Given the description of an element on the screen output the (x, y) to click on. 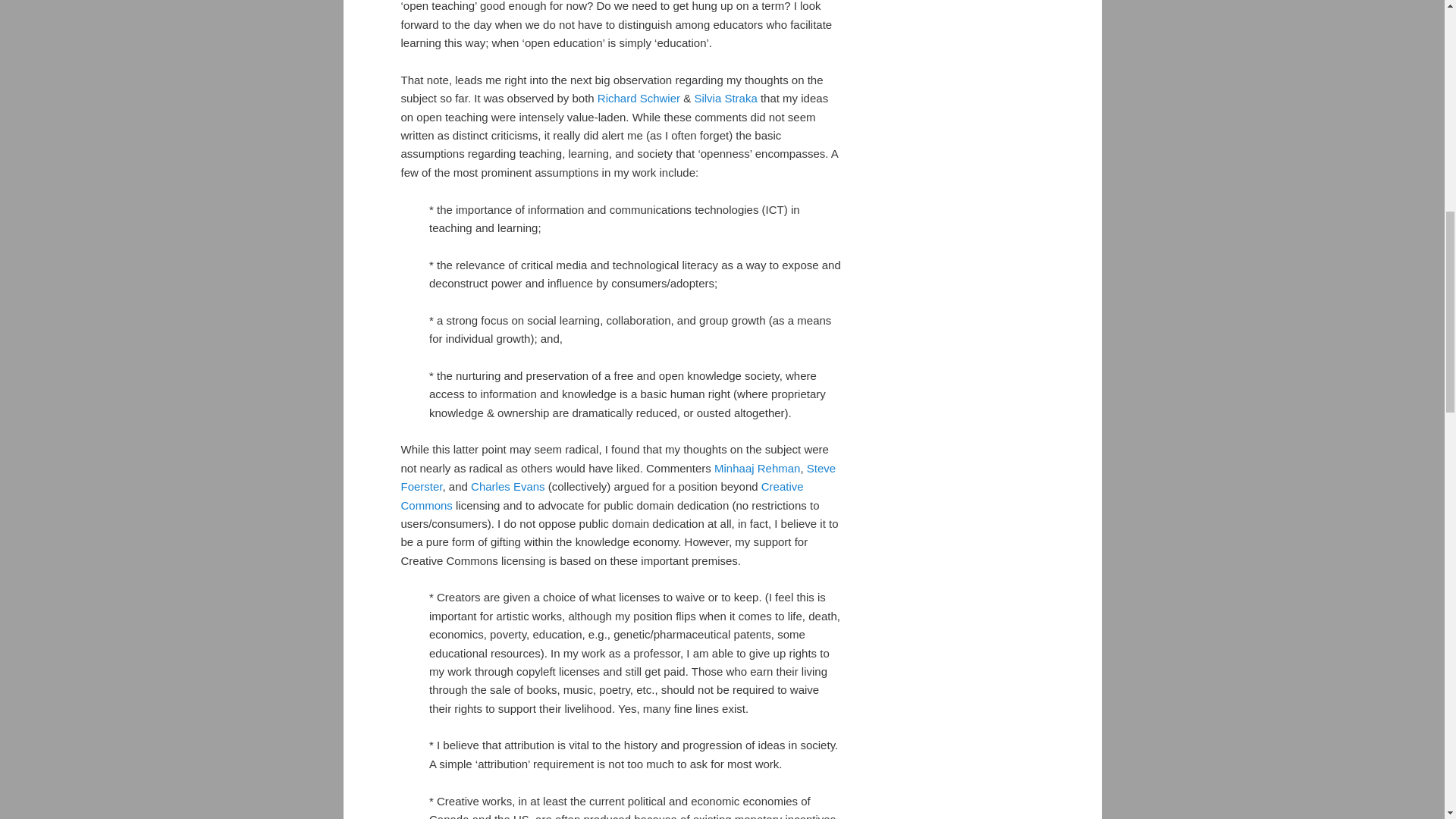
Minhaaj Rehman (756, 468)
Richard Schwier (637, 97)
Silvia Straka (725, 97)
Creative Commons (601, 495)
Steve Foerster (617, 477)
Charles Evans (507, 486)
